Given the description of an element on the screen output the (x, y) to click on. 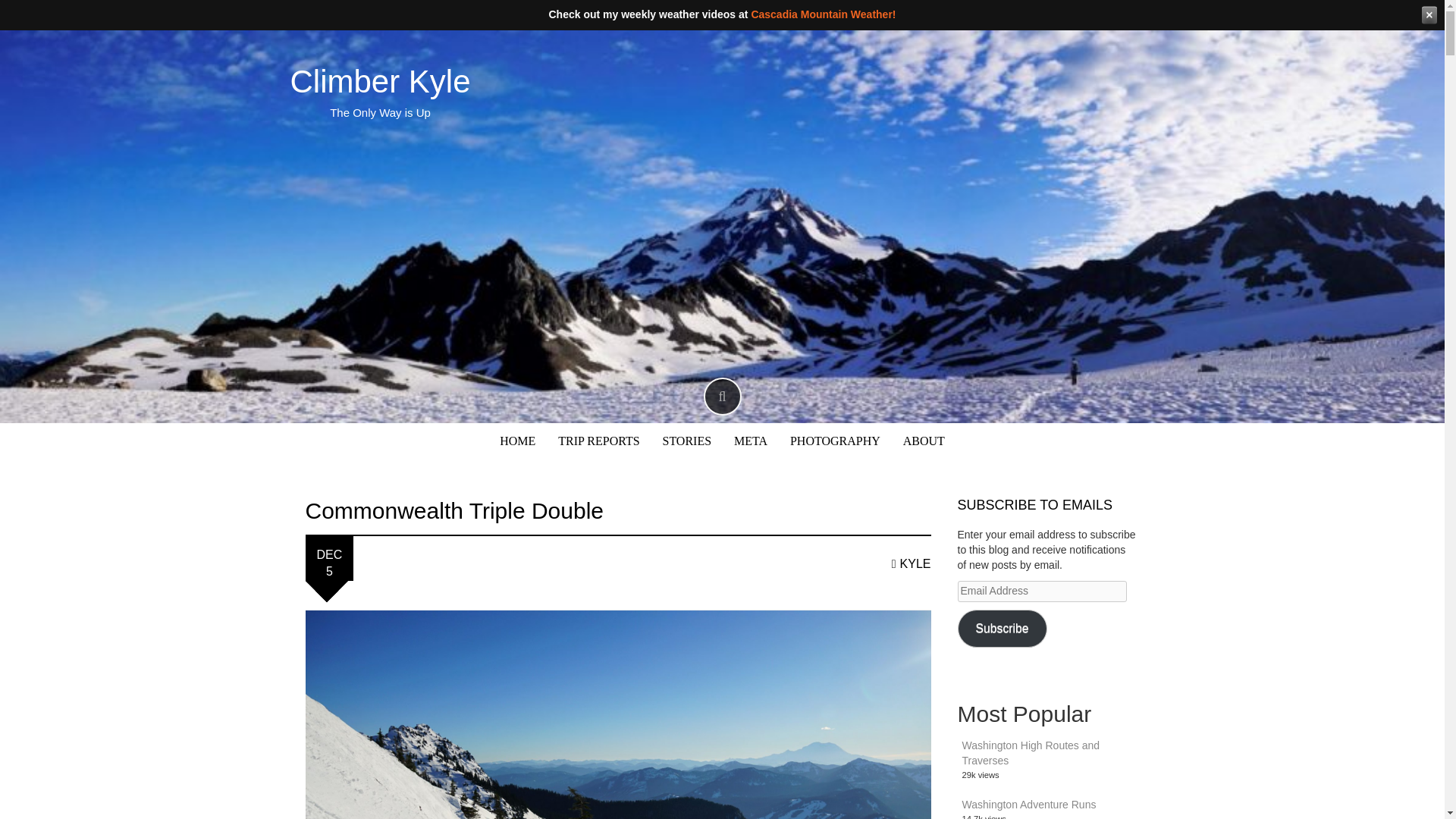
TRIP REPORTS (598, 441)
Subscribe (1001, 628)
PHOTOGRAPHY (835, 441)
KYLE (911, 563)
HOME (517, 441)
STORIES (686, 441)
ABOUT (923, 441)
Cascadia Mountain Weather! (823, 14)
Washington High Routes and Traverses (1029, 752)
Washington Adventure Runs (1028, 804)
Climber Kyle (379, 81)
META (750, 441)
